Given the description of an element on the screen output the (x, y) to click on. 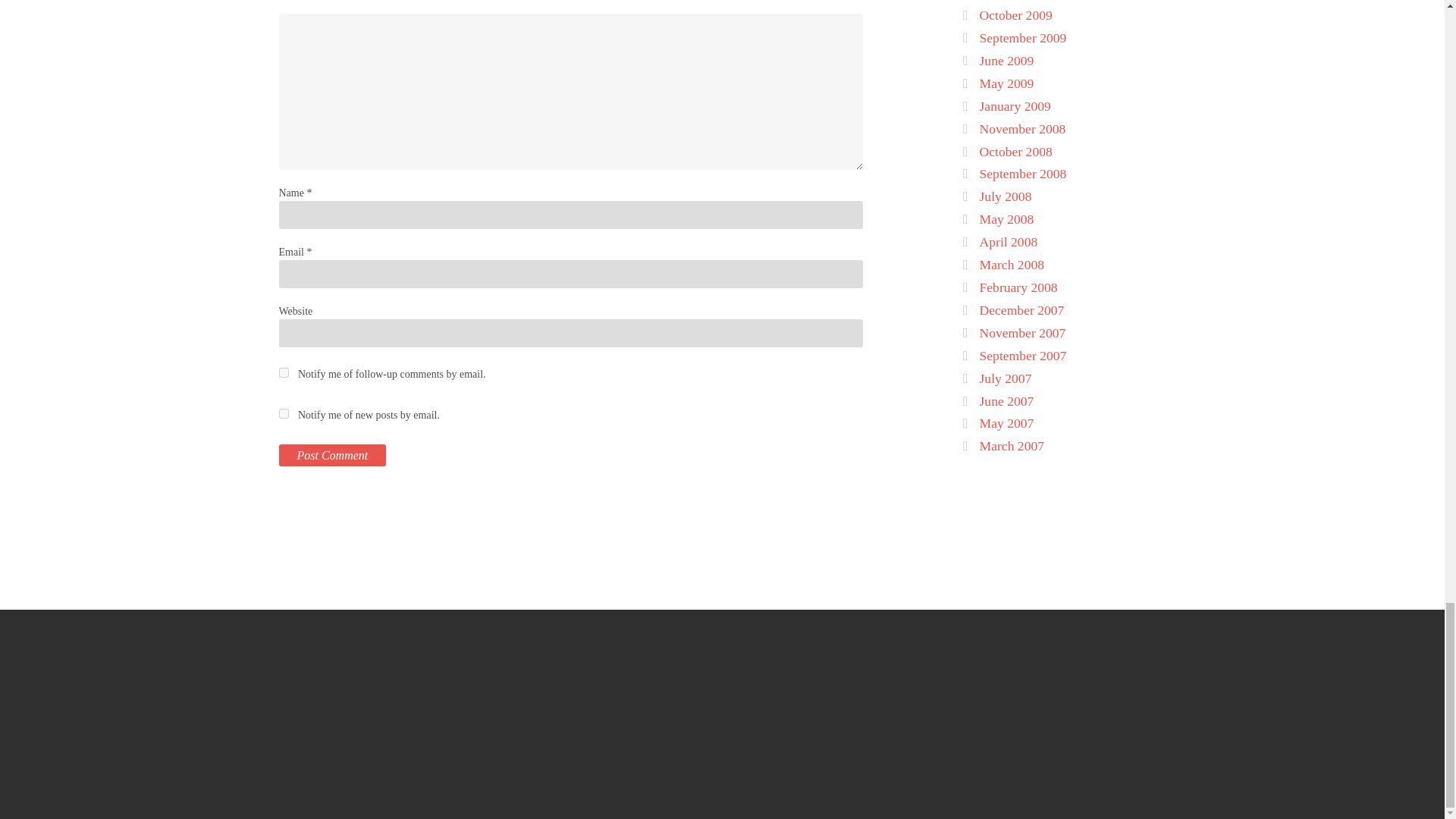
subscribe (283, 413)
subscribe (283, 372)
Post Comment (333, 455)
